Given the description of an element on the screen output the (x, y) to click on. 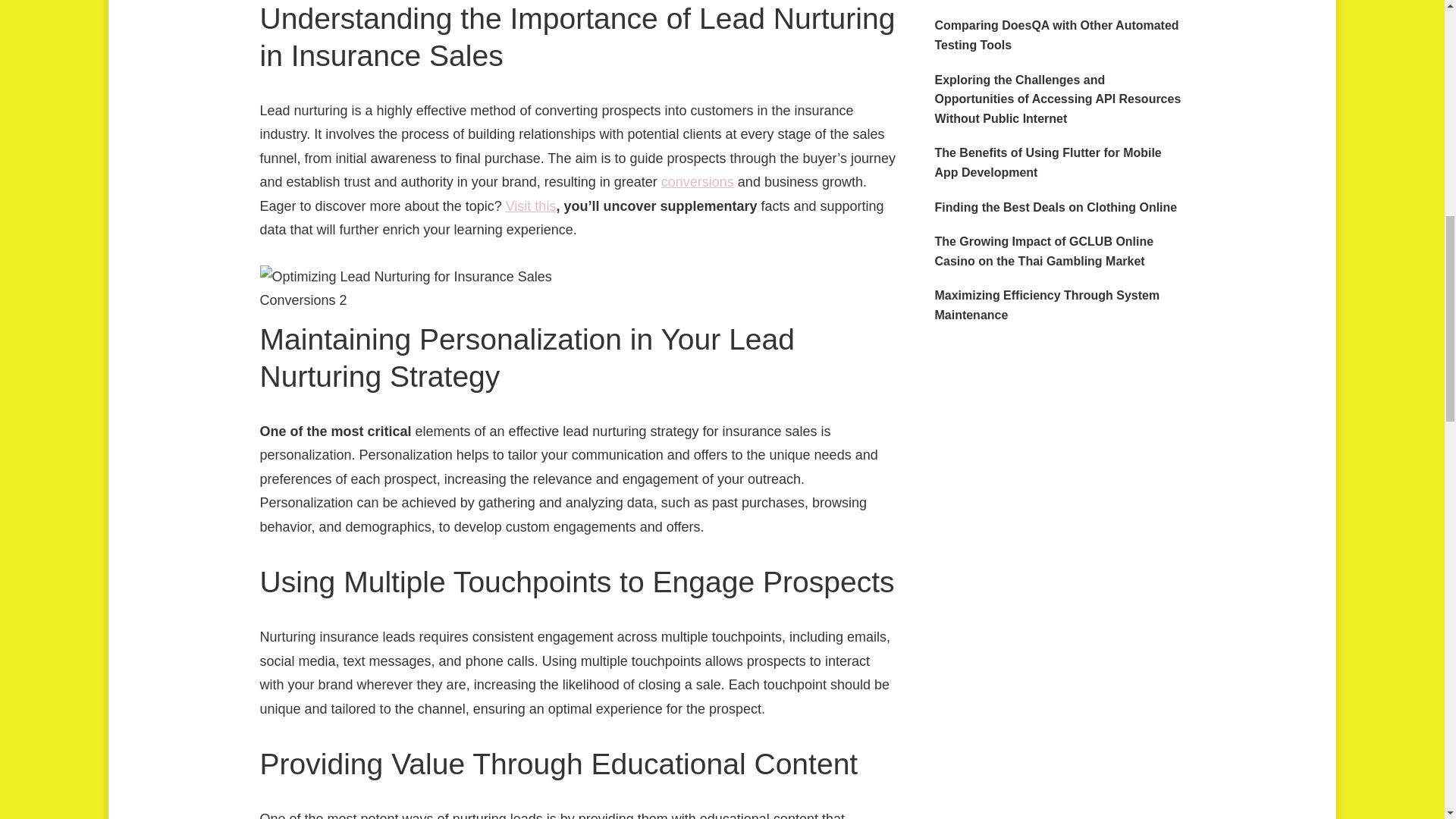
Visit this (530, 206)
conversions (697, 181)
